Given the description of an element on the screen output the (x, y) to click on. 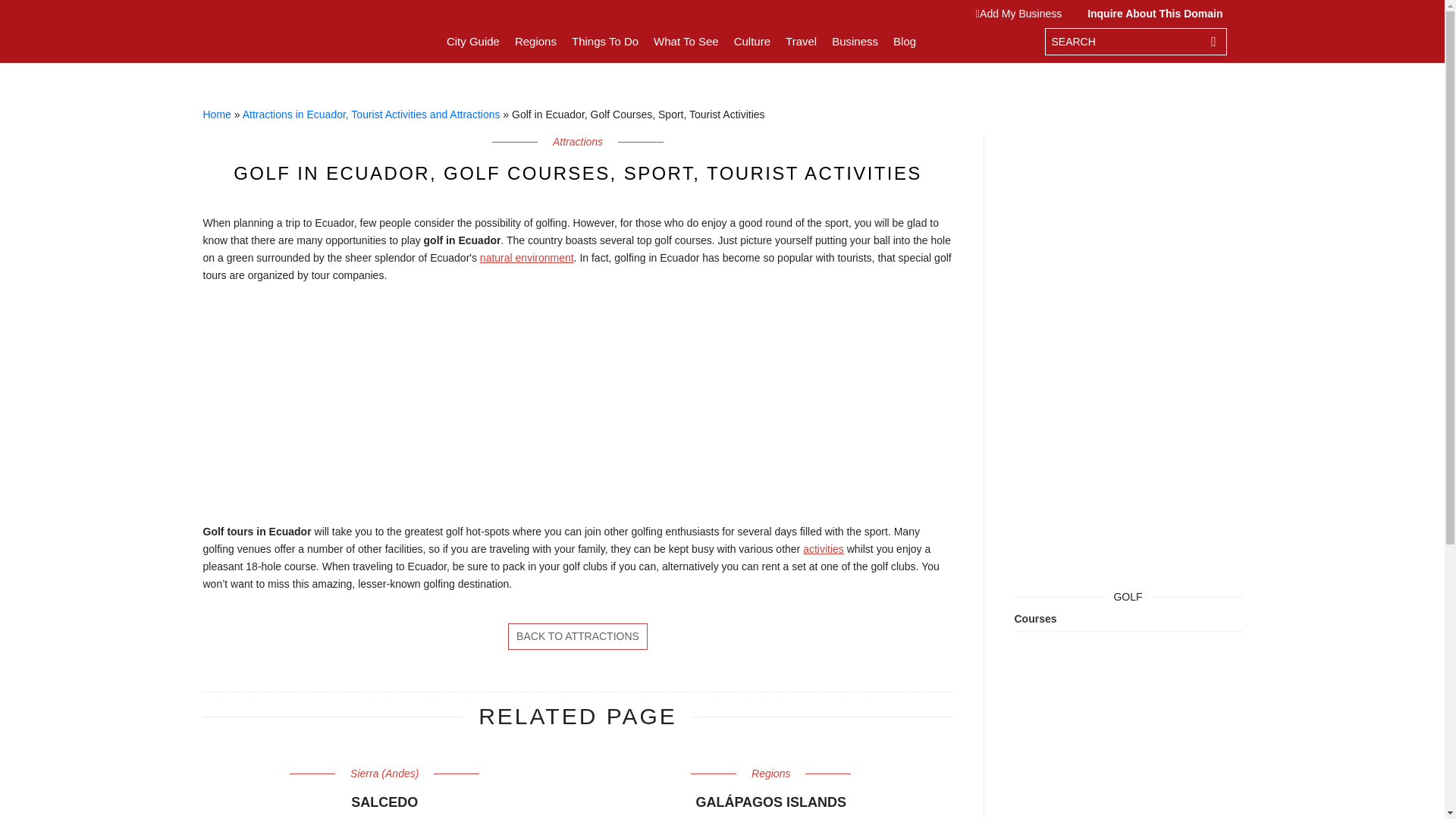
Inquire About This Domain (1150, 13)
Business (854, 41)
City Guide (472, 41)
Add My Business (1021, 13)
Attractions (577, 636)
Travel (801, 41)
Regions (535, 41)
Culture (751, 41)
Geography of Ecuador (526, 257)
Activities in Ecuador (823, 548)
